Given the description of an element on the screen output the (x, y) to click on. 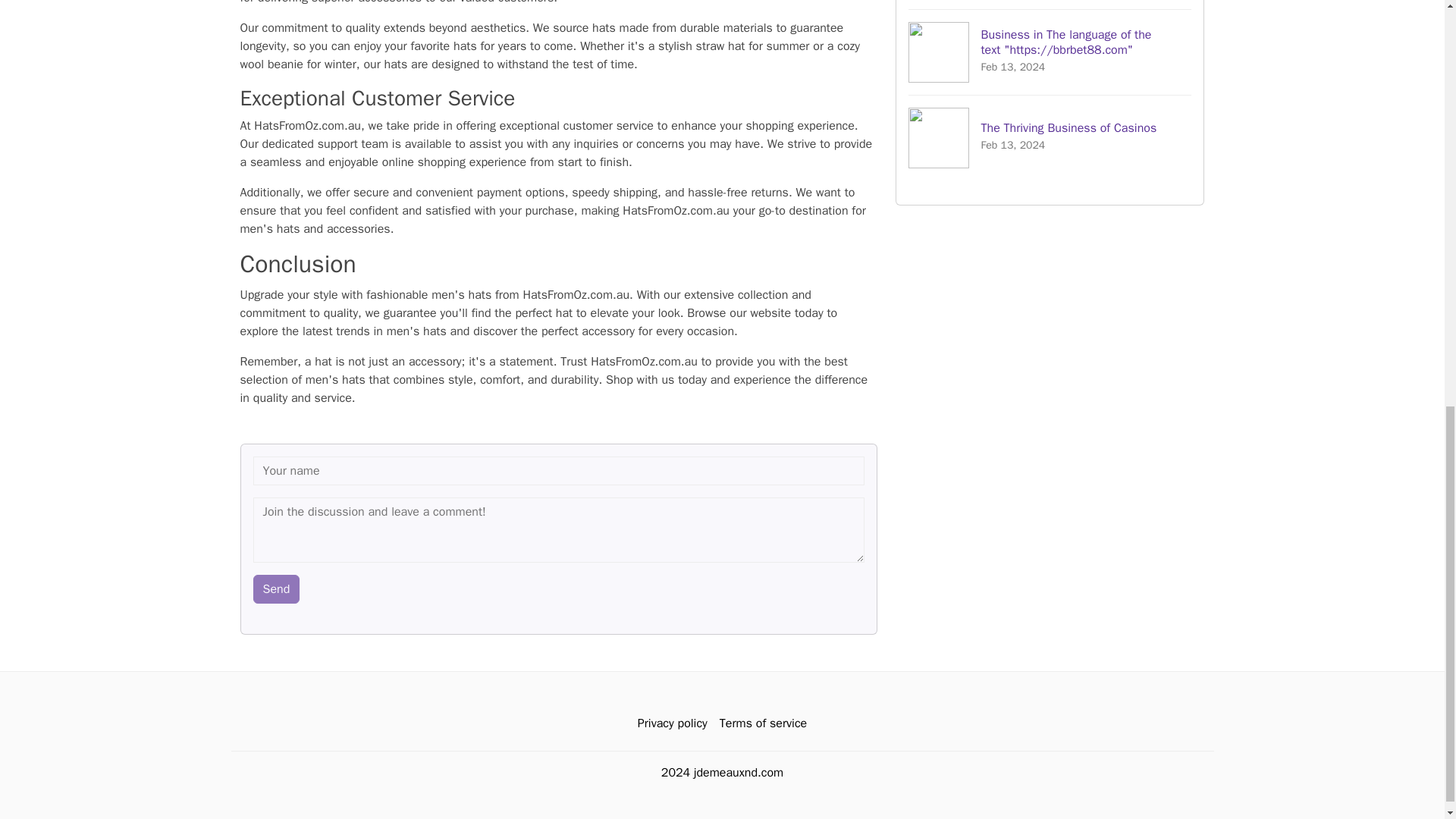
Send (276, 588)
Send (276, 588)
Privacy policy (1050, 136)
Terms of service (672, 723)
